Given the description of an element on the screen output the (x, y) to click on. 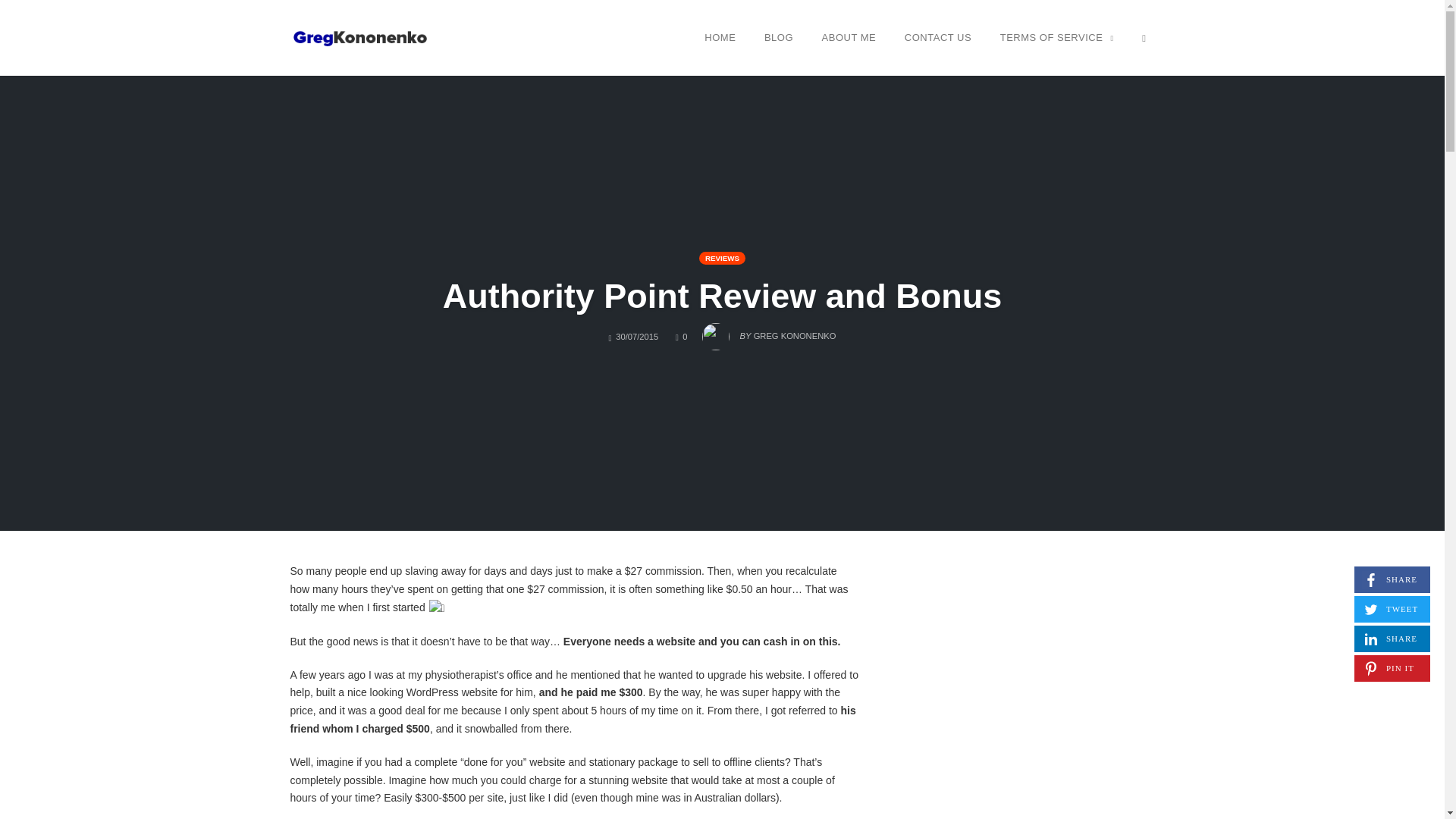
HOME (719, 37)
Authority Point Review and Bonus (722, 295)
CONTACT US (937, 37)
ABOUT ME (1391, 579)
TERMS OF SERVICE (849, 37)
BLOG (1056, 37)
OPEN SEARCH FORM (778, 37)
Greg Kononenko (1391, 638)
